Given the description of an element on the screen output the (x, y) to click on. 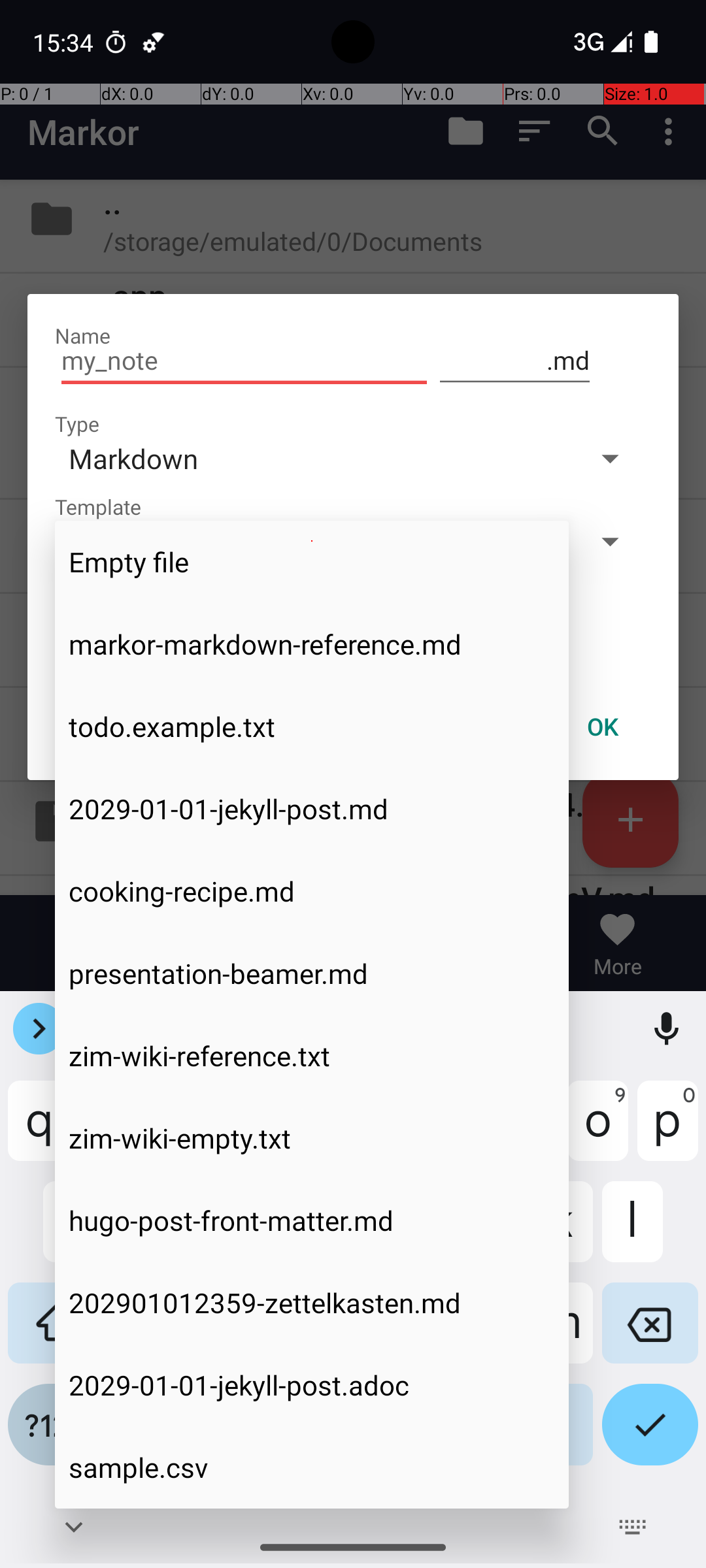
markor-markdown-reference.md Element type: android.widget.CheckedTextView (311, 644)
todo.example.txt Element type: android.widget.CheckedTextView (311, 726)
presentation-beamer.md Element type: android.widget.CheckedTextView (311, 973)
zim-wiki-reference.txt Element type: android.widget.CheckedTextView (311, 1055)
hugo-post-front-matter.md Element type: android.widget.CheckedTextView (311, 1220)
sample.csv Element type: android.widget.CheckedTextView (311, 1467)
